Given the description of an element on the screen output the (x, y) to click on. 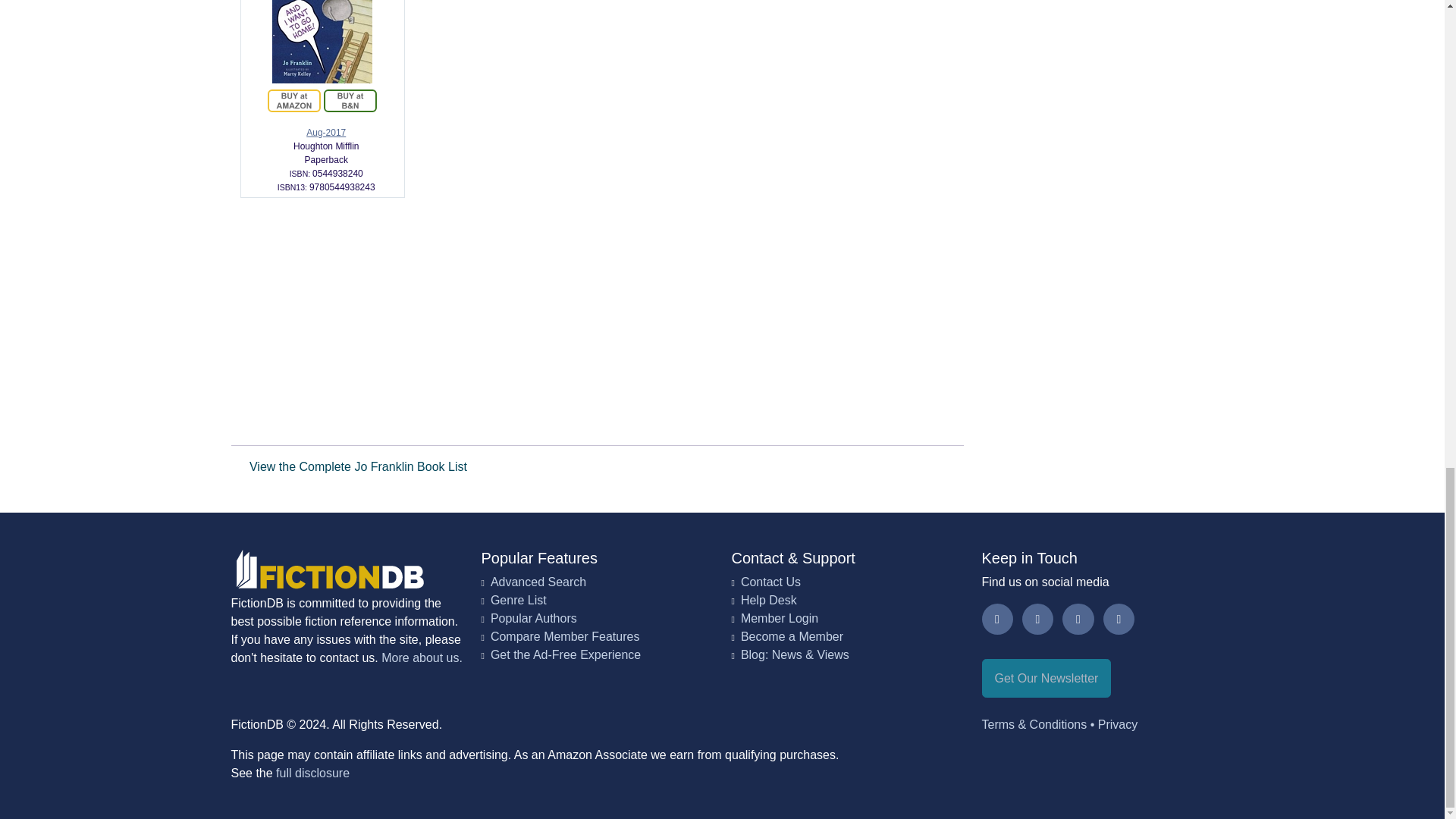
Purchase this edition (350, 100)
Purchase this edition (293, 100)
